Given the description of an element on the screen output the (x, y) to click on. 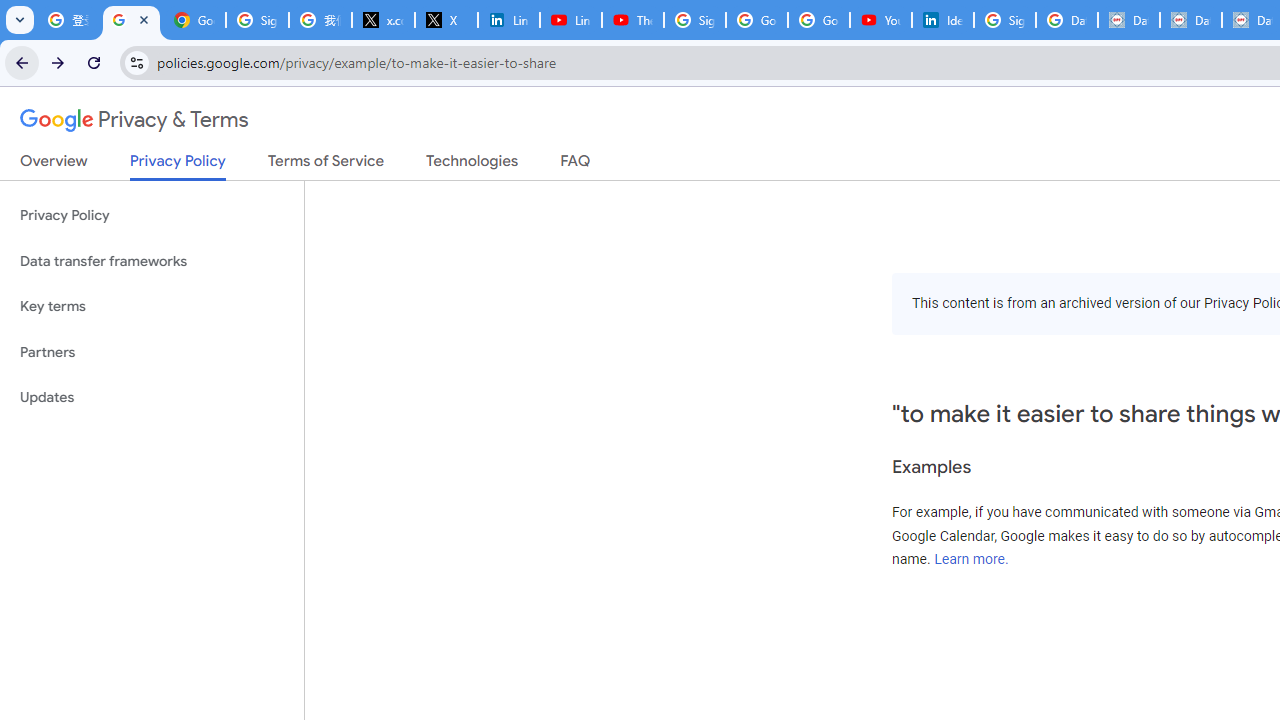
LinkedIn Privacy Policy (508, 20)
Data Privacy Framework (1190, 20)
